Given the description of an element on the screen output the (x, y) to click on. 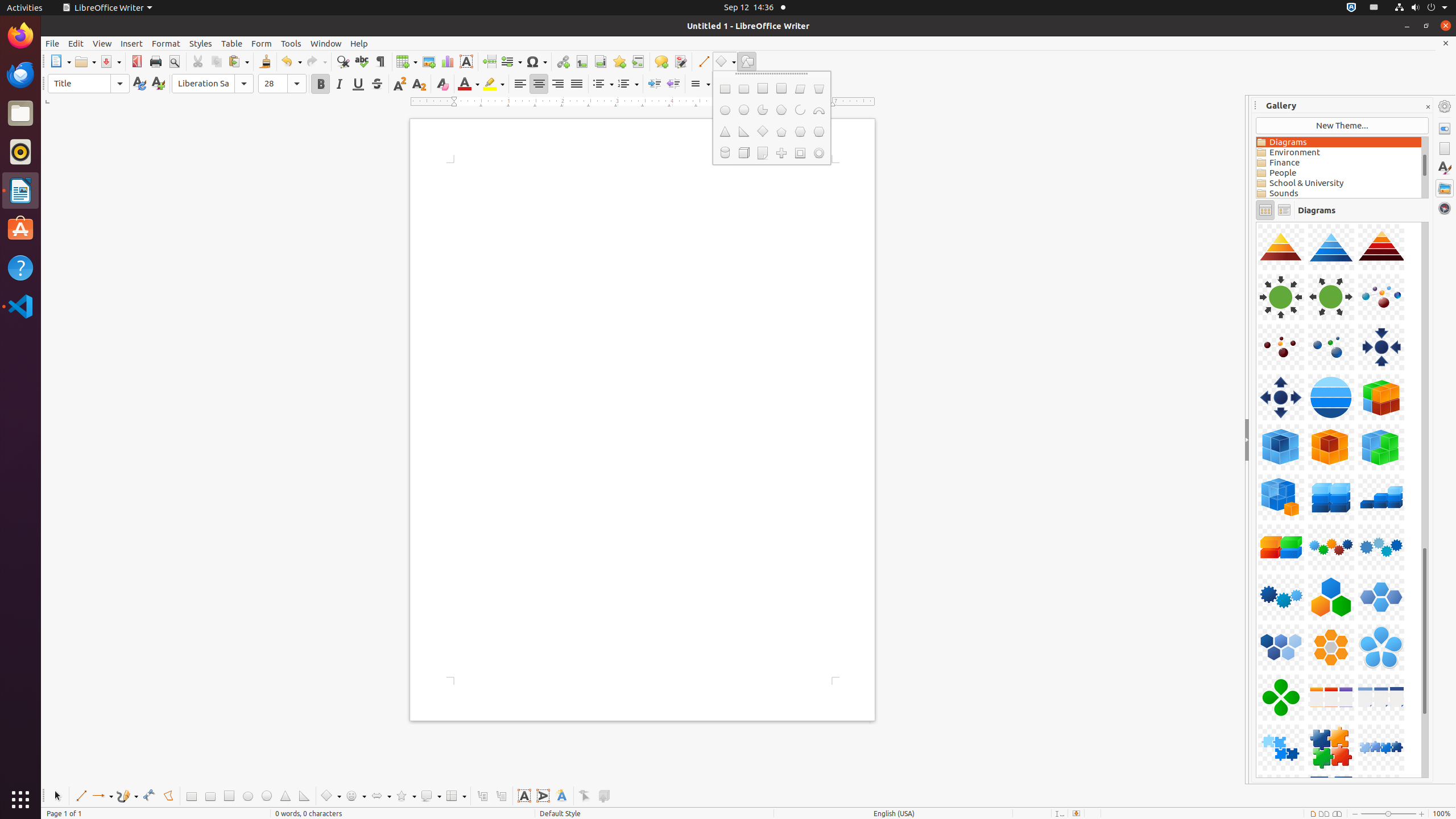
Font Color Element type: push-button (468, 83)
Page Element type: radio-button (1444, 148)
Justified Element type: toggle-button (576, 83)
LibreOffice Writer Element type: push-button (20, 190)
Circle Element type: push-button (266, 795)
